Given the description of an element on the screen output the (x, y) to click on. 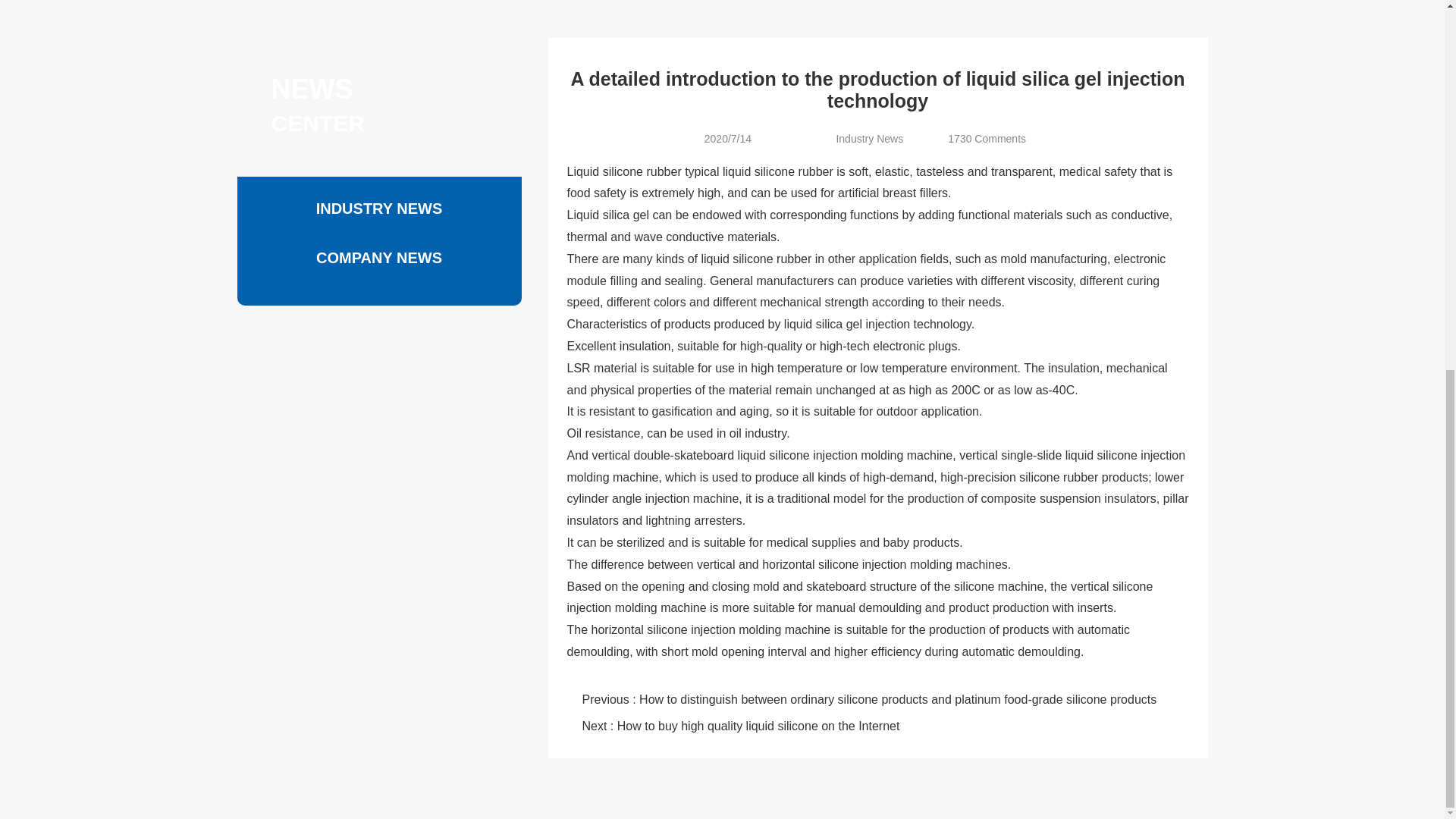
COMPANY NEWS (379, 257)
How to buy high quality liquid silicone on the Internet (758, 725)
INDUSTRY NEWS (379, 208)
Liquid silicone rubber (624, 171)
liquid silicone (1100, 454)
How to buy high quality liquid silicone on the Internet (758, 725)
